Given the description of an element on the screen output the (x, y) to click on. 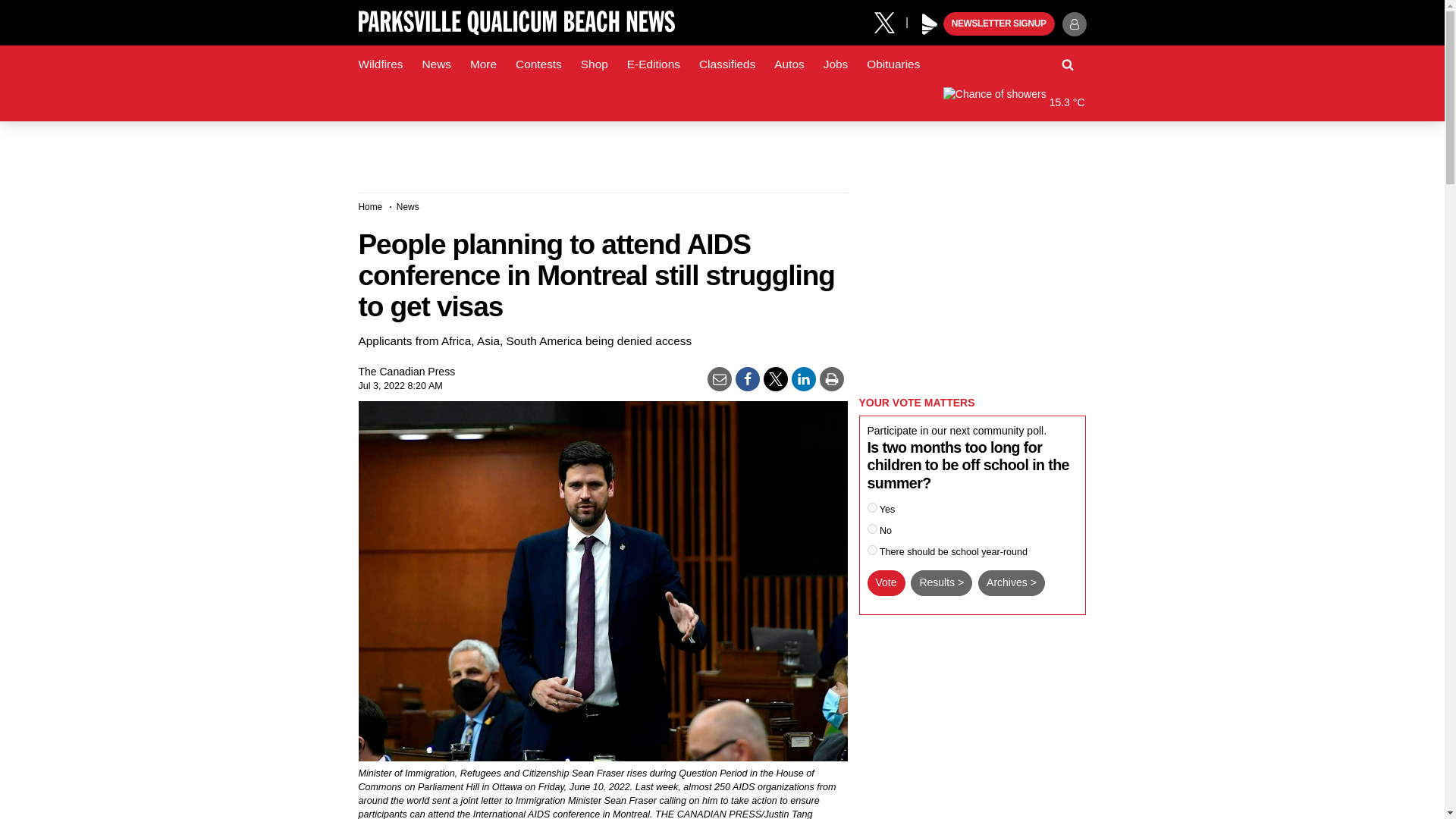
Black Press Media (929, 24)
Wildfires (380, 64)
271 (872, 550)
270 (872, 528)
News (435, 64)
NEWSLETTER SIGNUP (998, 24)
X (889, 21)
269 (872, 507)
Play (929, 24)
